Given the description of an element on the screen output the (x, y) to click on. 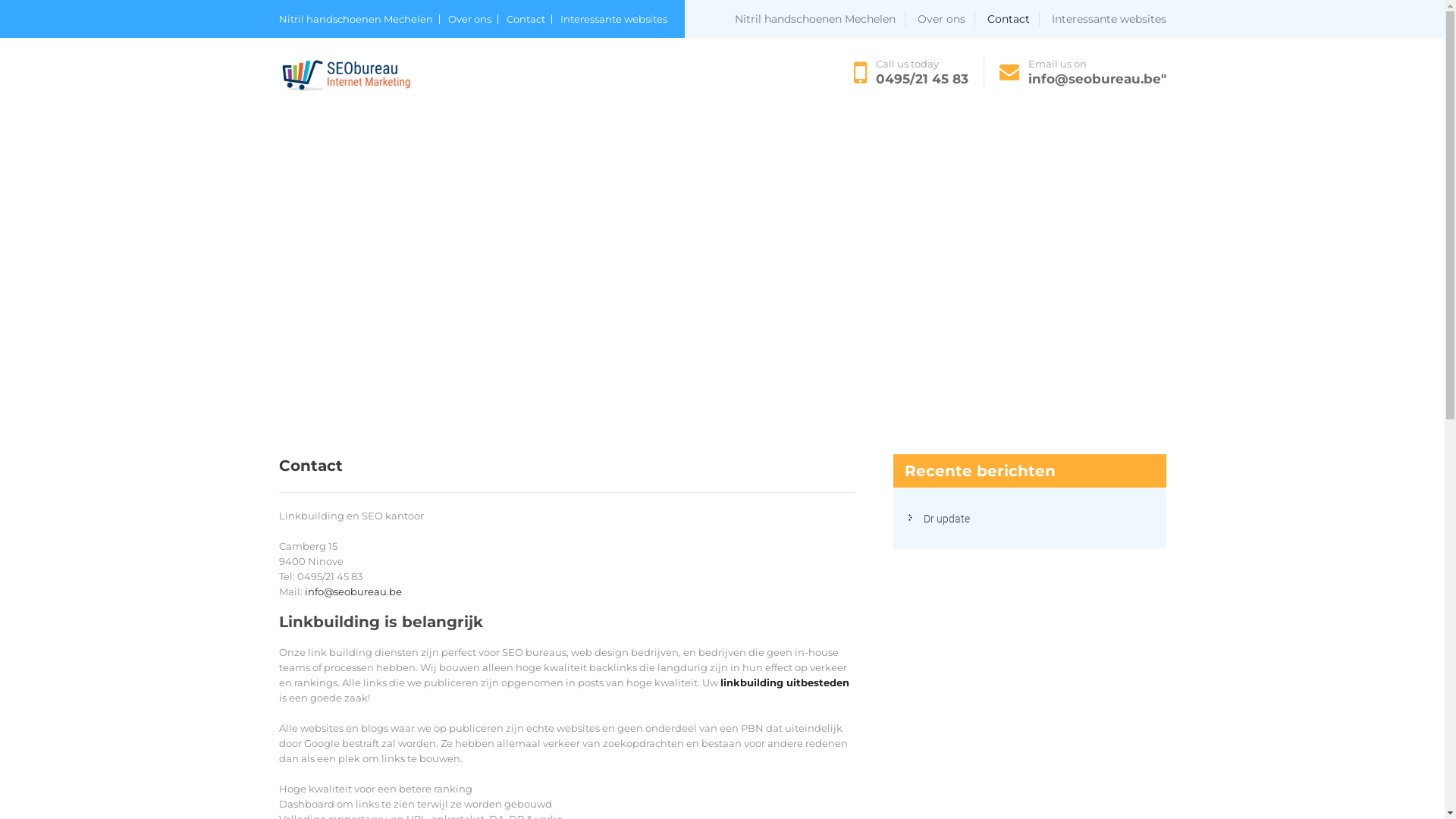
Contact Element type: text (1013, 18)
Contact Element type: text (529, 19)
linkbuilding uitbesteden Element type: text (784, 682)
Nitril handschoenen Mechelen Element type: text (359, 19)
info@seobureau.be" Element type: text (1097, 78)
Over ons Element type: text (472, 19)
Interessante websites Element type: text (1108, 18)
Over ons Element type: text (946, 18)
Dr update Element type: text (946, 518)
Interessante websites Element type: text (612, 19)
Nitril handschoenen Mechelen Element type: text (819, 18)
info@seobureau.be Element type: text (352, 591)
